Given the description of an element on the screen output the (x, y) to click on. 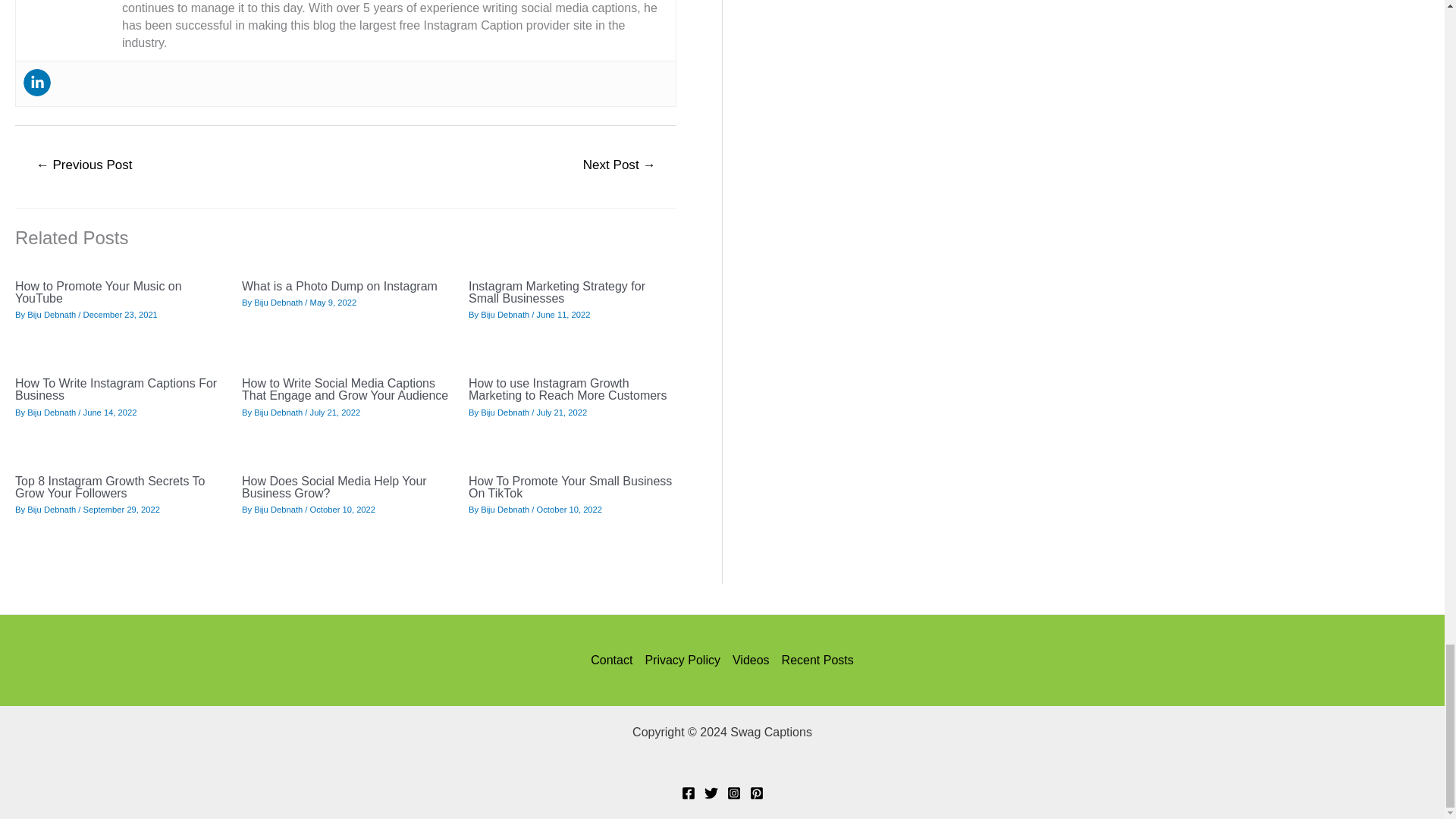
View all posts by Biju Debnath (277, 509)
View all posts by Biju Debnath (504, 411)
View all posts by Biju Debnath (504, 509)
Linkedin (36, 82)
View all posts by Biju Debnath (277, 411)
View all posts by Biju Debnath (277, 302)
View all posts by Biju Debnath (51, 411)
DMCA.com Protection Status (722, 761)
View all posts by Biju Debnath (504, 314)
View all posts by Biju Debnath (51, 509)
View all posts by Biju Debnath (51, 314)
